Given the description of an element on the screen output the (x, y) to click on. 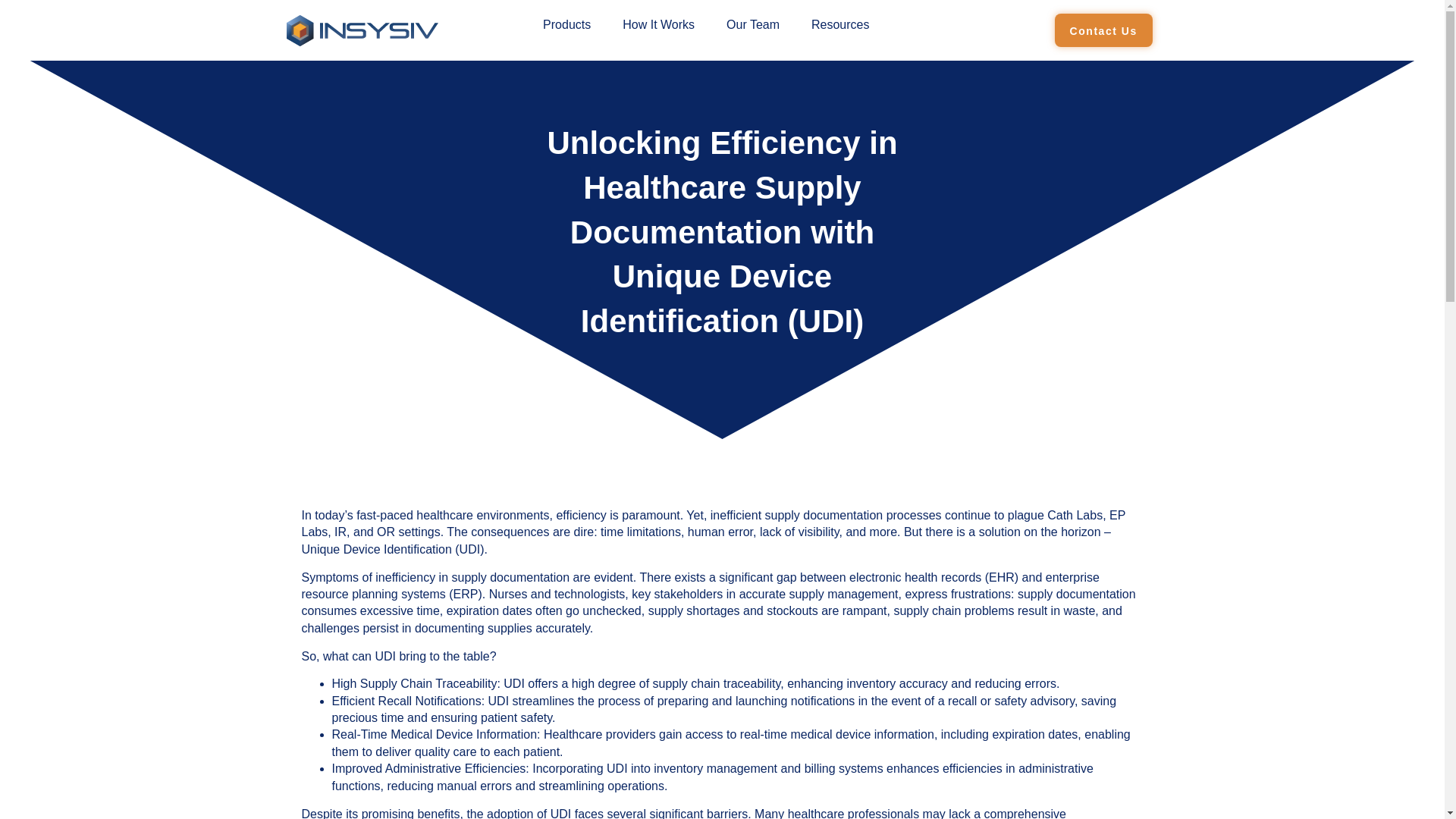
Products (566, 24)
Our Team (752, 24)
Resources (839, 24)
How It Works (658, 24)
Contact Us (1103, 29)
